Given the description of an element on the screen output the (x, y) to click on. 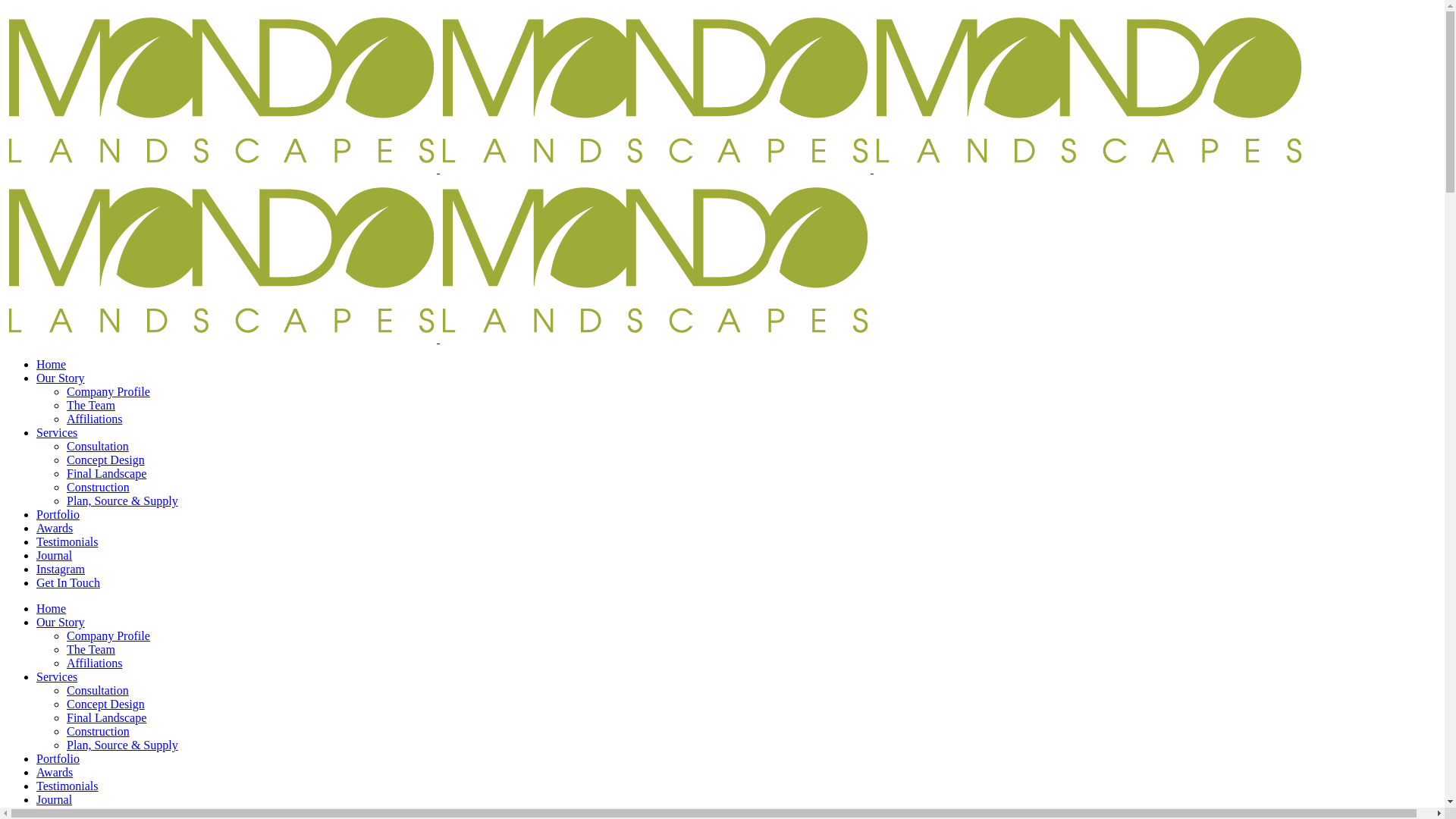
Company Profile Element type: text (108, 391)
The Team Element type: text (90, 404)
Awards Element type: text (54, 771)
Portfolio Element type: text (57, 514)
Final Landscape Element type: text (106, 473)
Our Story Element type: text (60, 621)
Our Story Element type: text (60, 377)
Awards Element type: text (54, 527)
Affiliations Element type: text (94, 662)
Consultation Element type: text (97, 690)
Final Landscape Element type: text (106, 717)
Plan, Source & Supply Element type: text (122, 744)
Home Element type: text (50, 608)
The Team Element type: text (90, 649)
Journal Element type: text (54, 799)
Testimonials Element type: text (67, 541)
Home Element type: text (50, 363)
Affiliations Element type: text (94, 418)
Get In Touch Element type: text (68, 582)
Services Element type: text (56, 432)
Services Element type: text (56, 676)
Construction Element type: text (97, 730)
Journal Element type: text (54, 555)
Consultation Element type: text (97, 445)
Concept Design Element type: text (105, 703)
Instagram Element type: text (60, 568)
Construction Element type: text (97, 486)
Company Profile Element type: text (108, 635)
Plan, Source & Supply Element type: text (122, 500)
Testimonials Element type: text (67, 785)
Portfolio Element type: text (57, 758)
Concept Design Element type: text (105, 459)
